Given the description of an element on the screen output the (x, y) to click on. 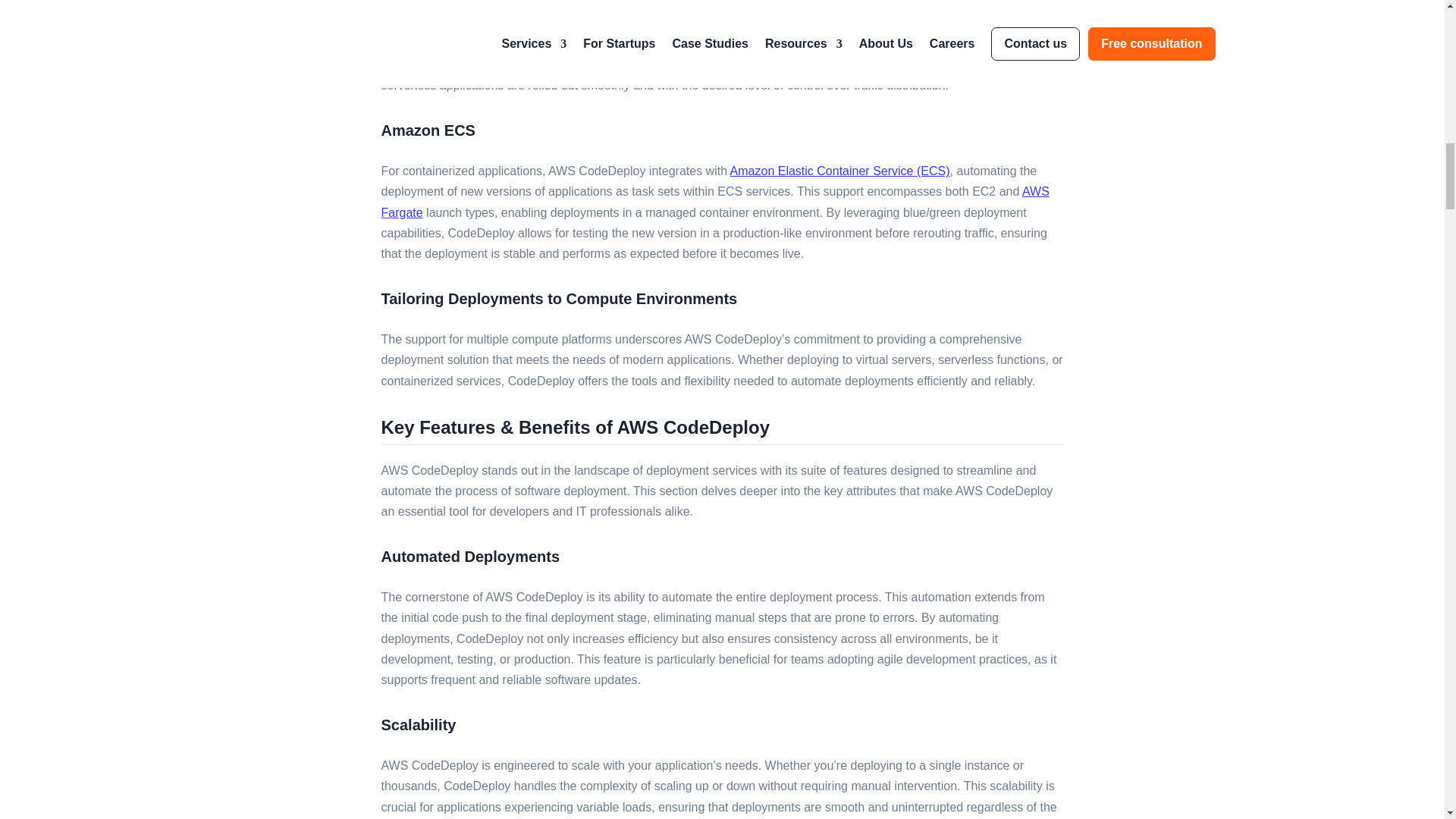
AWS Fargate (714, 201)
AWS Fargate: Detailed Guide (714, 201)
